Given the description of an element on the screen output the (x, y) to click on. 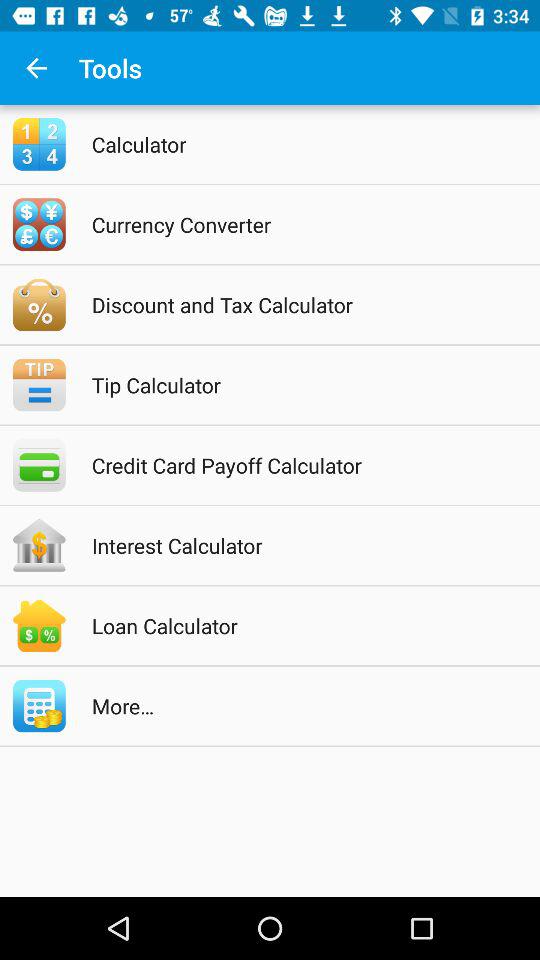
open the discount and tax icon (295, 304)
